Given the description of an element on the screen output the (x, y) to click on. 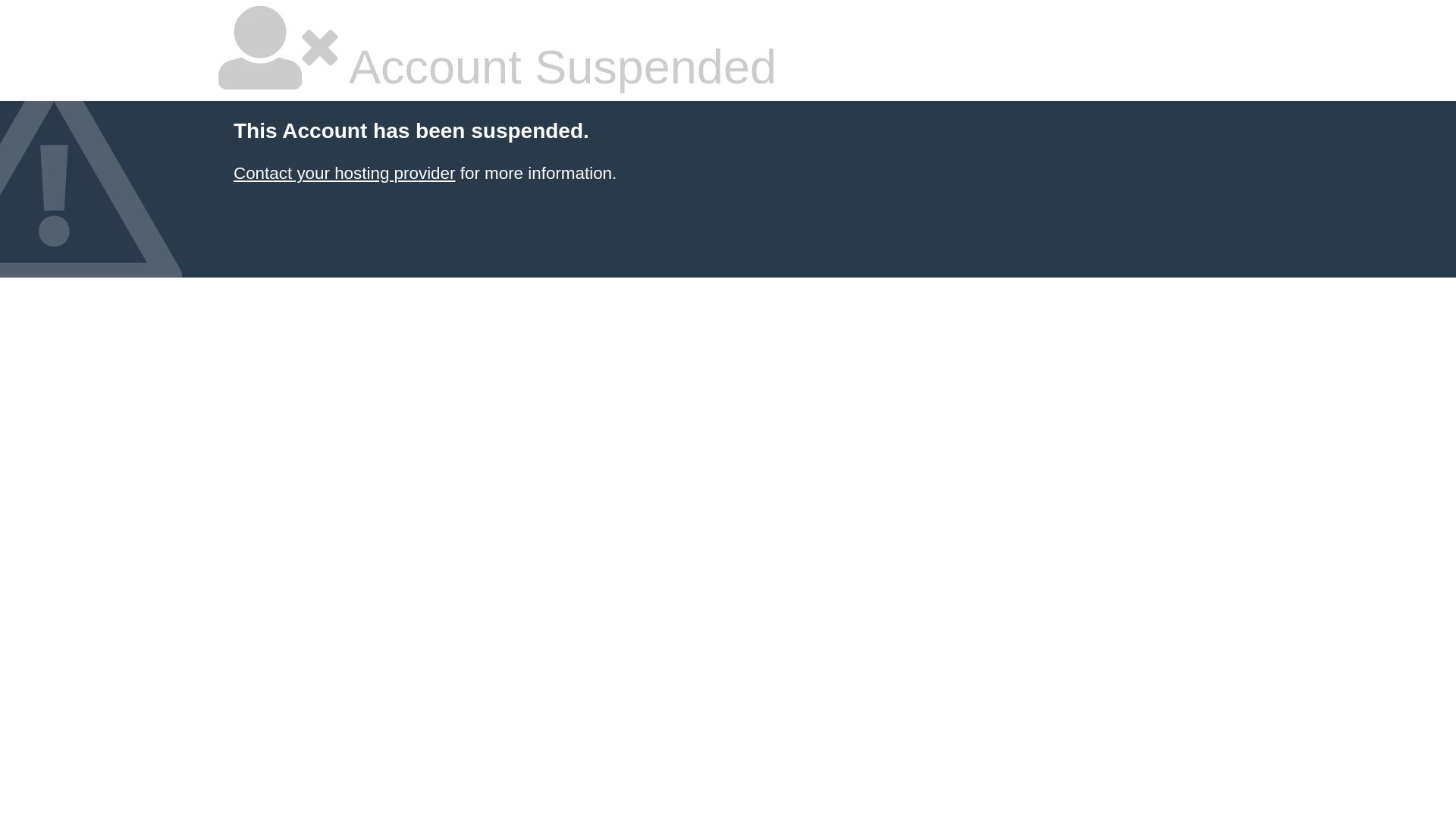
Contact your hosting provider Element type: text (344, 172)
